Given the description of an element on the screen output the (x, y) to click on. 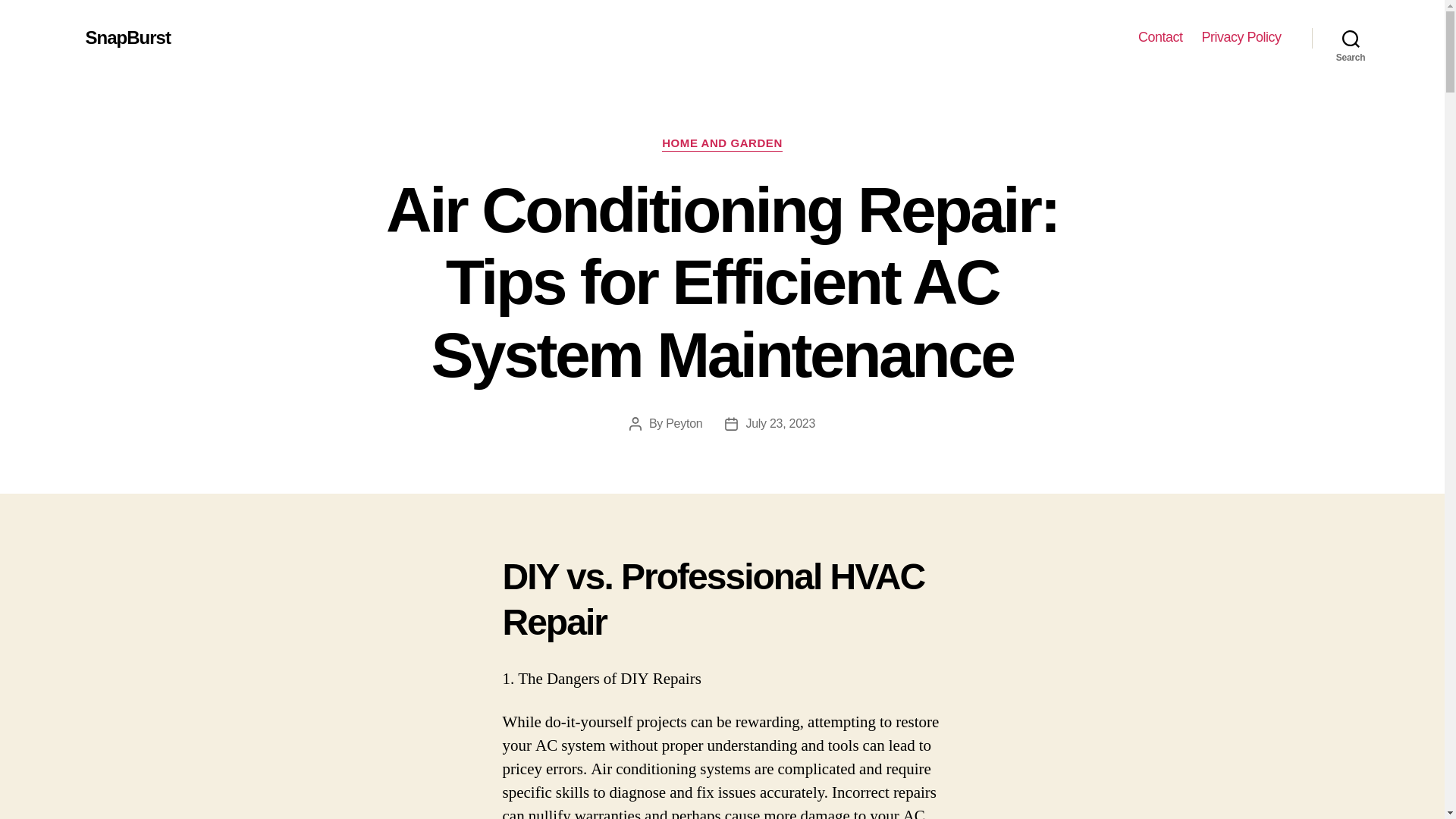
Search (1350, 37)
July 23, 2023 (780, 422)
SnapBurst (127, 37)
Contact (1160, 37)
HOME AND GARDEN (722, 143)
Peyton (683, 422)
Privacy Policy (1241, 37)
